Given the description of an element on the screen output the (x, y) to click on. 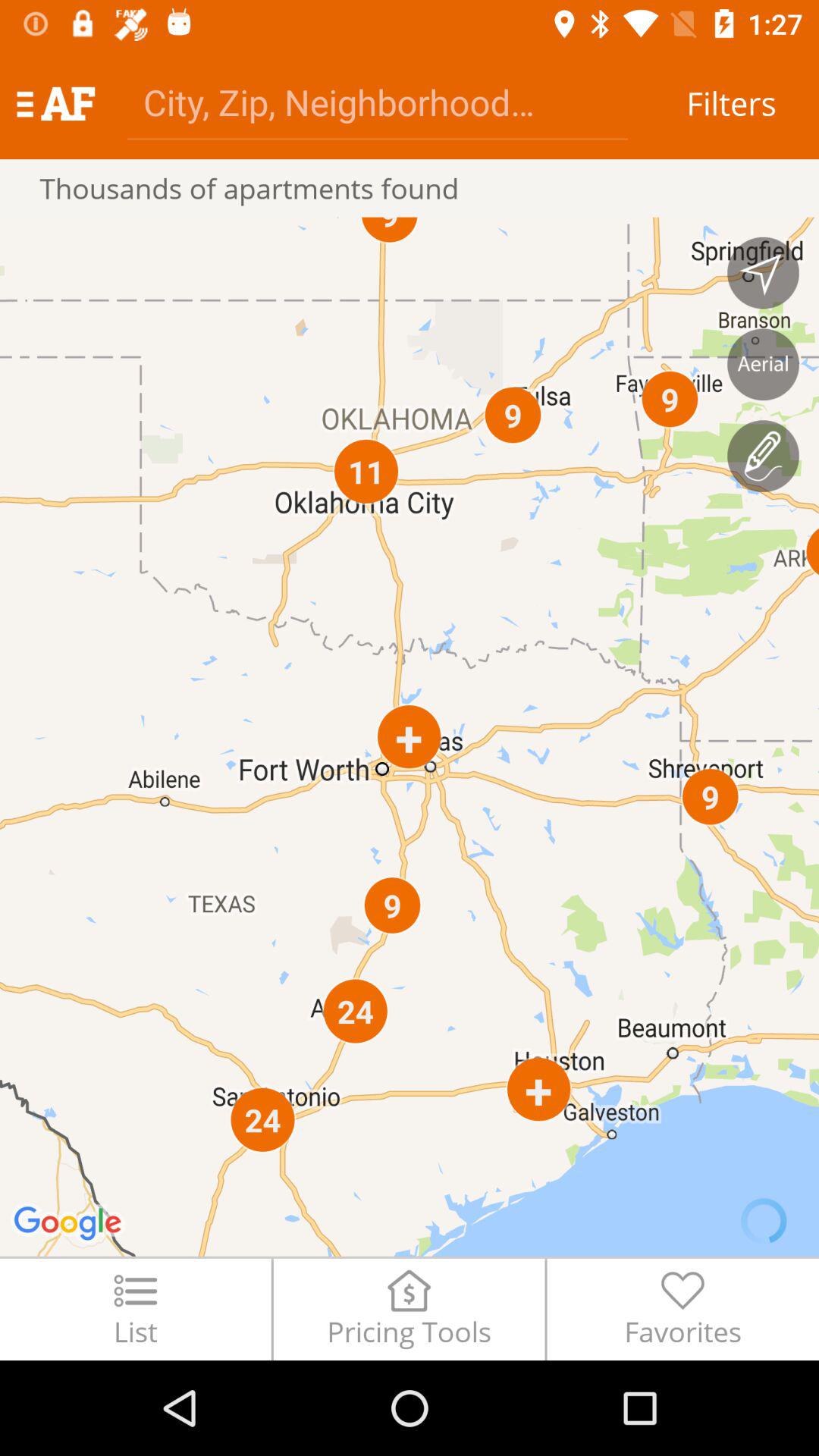
select item to the left of pricing tools icon (135, 1309)
